Given the description of an element on the screen output the (x, y) to click on. 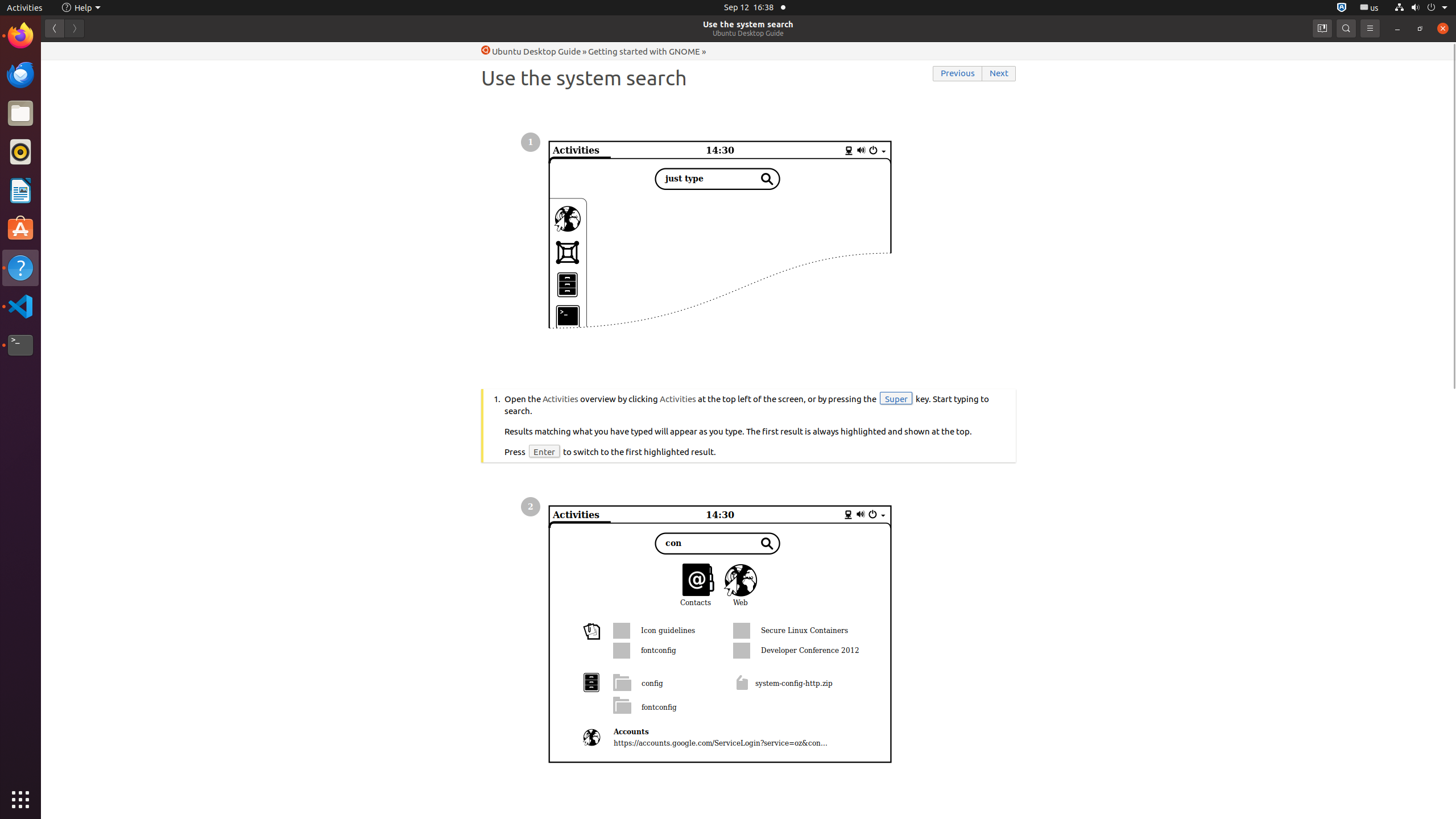
li.txt Element type: label (146, 50)
luyi1 Element type: label (75, 50)
Trash Element type: label (75, 108)
IsaHelpMain.desktop Element type: label (75, 170)
Getting started with GNOME Element type: link (644, 51)
